Given the description of an element on the screen output the (x, y) to click on. 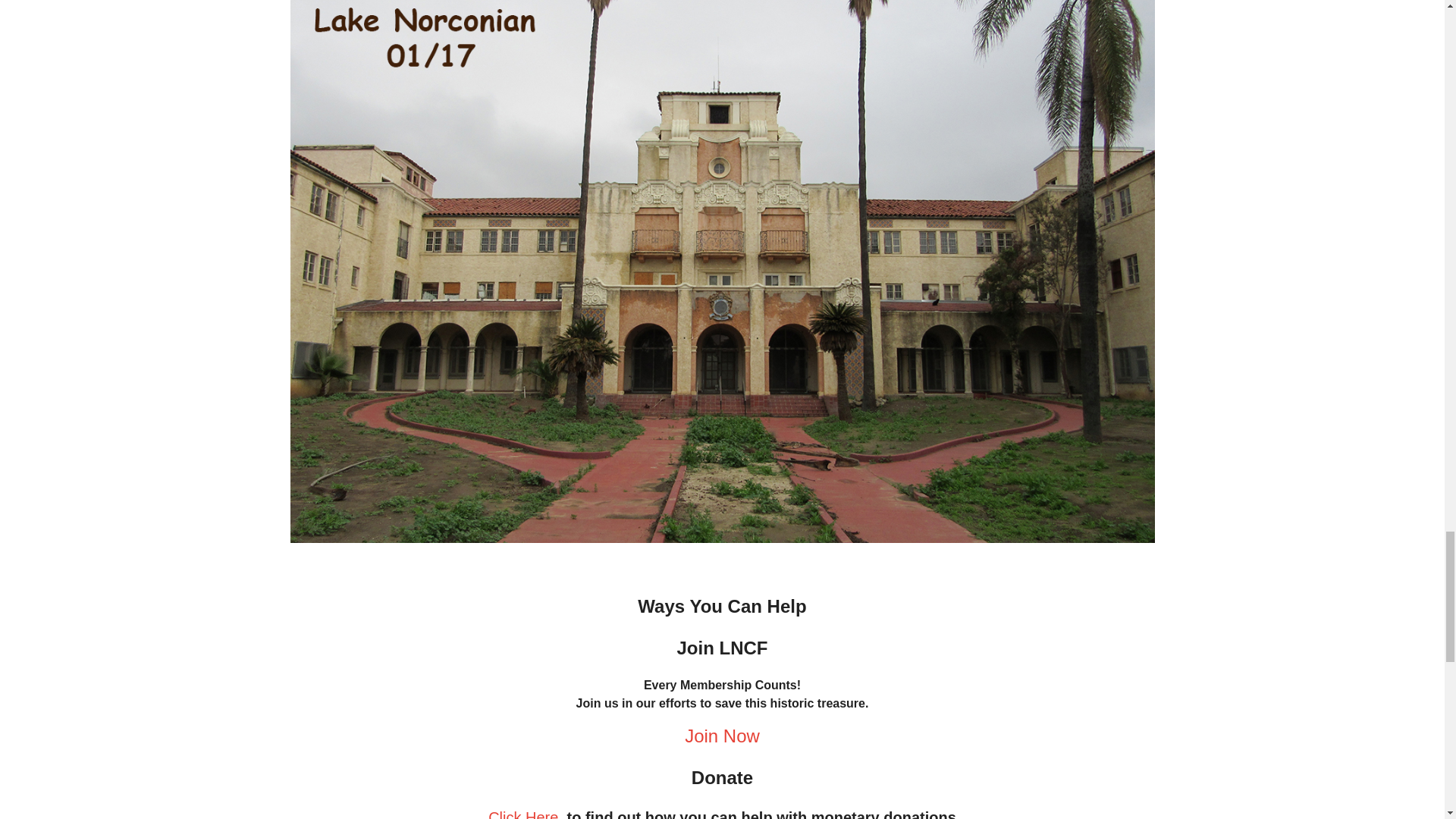
Join Now (722, 735)
Click Here (522, 814)
